Given the description of an element on the screen output the (x, y) to click on. 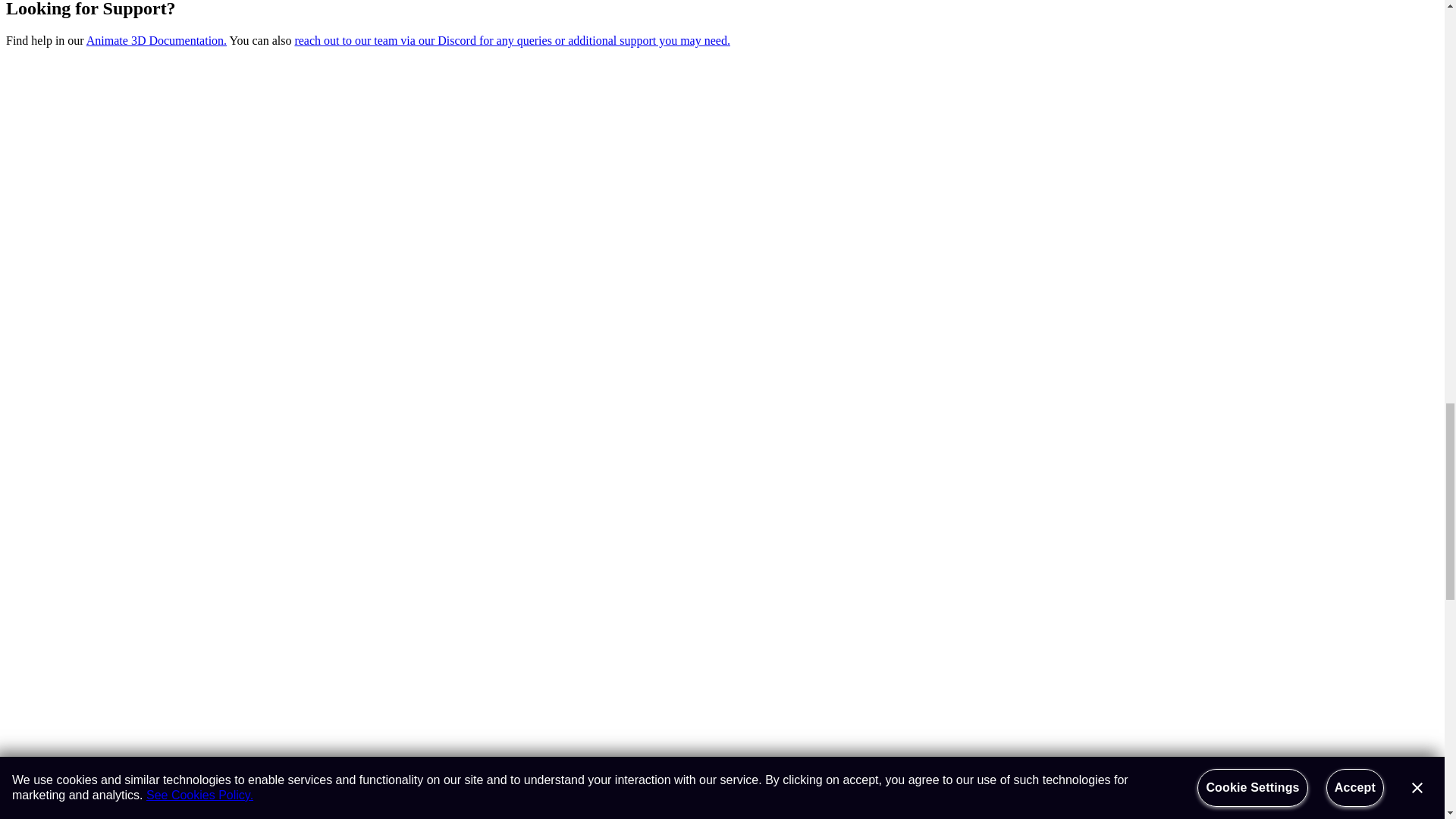
Animate 3D Documentation. (156, 40)
